Given the description of an element on the screen output the (x, y) to click on. 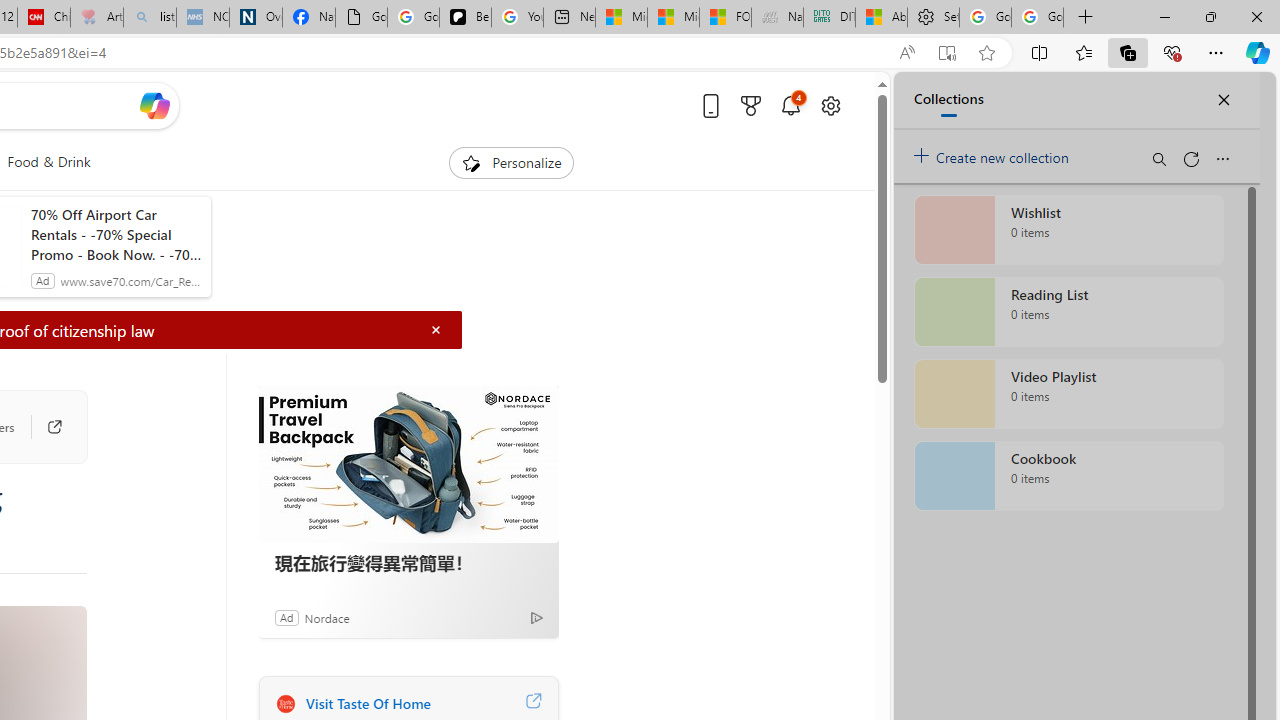
Navy Quest (776, 17)
FOX News - MSN (725, 17)
Aberdeen, Hong Kong SAR hourly forecast | Microsoft Weather (881, 17)
Open settings (830, 105)
Be Smart | creating Science videos | Patreon (465, 17)
Go to publisher's site (44, 426)
